Given the description of an element on the screen output the (x, y) to click on. 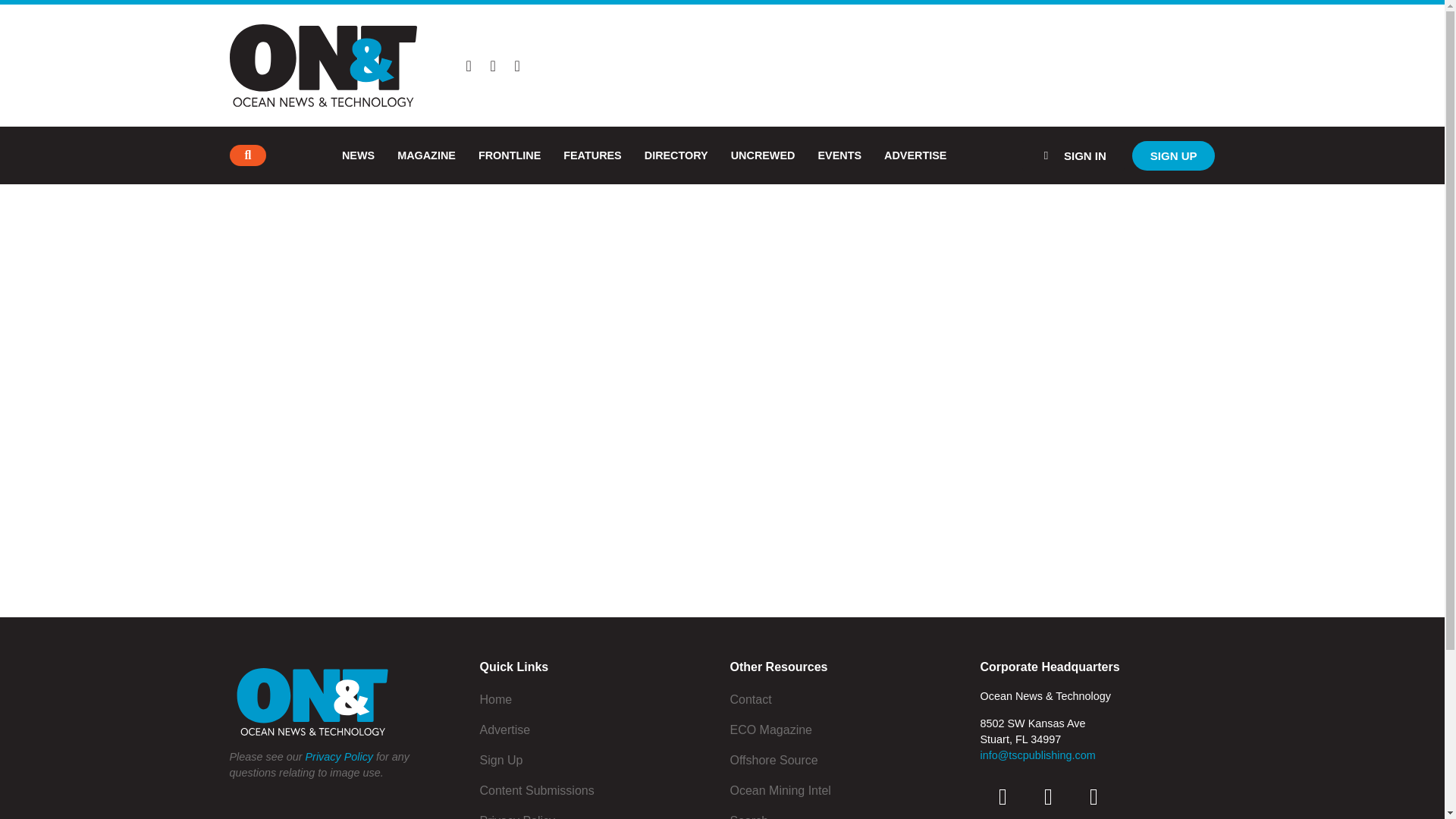
EVENTS (839, 155)
NEWS (357, 155)
DIRECTORY (676, 155)
UNCREWED (762, 155)
FEATURES (592, 155)
MAGAZINE (426, 155)
ADVERTISE (915, 155)
FRONTLINE (509, 155)
